Given the description of an element on the screen output the (x, y) to click on. 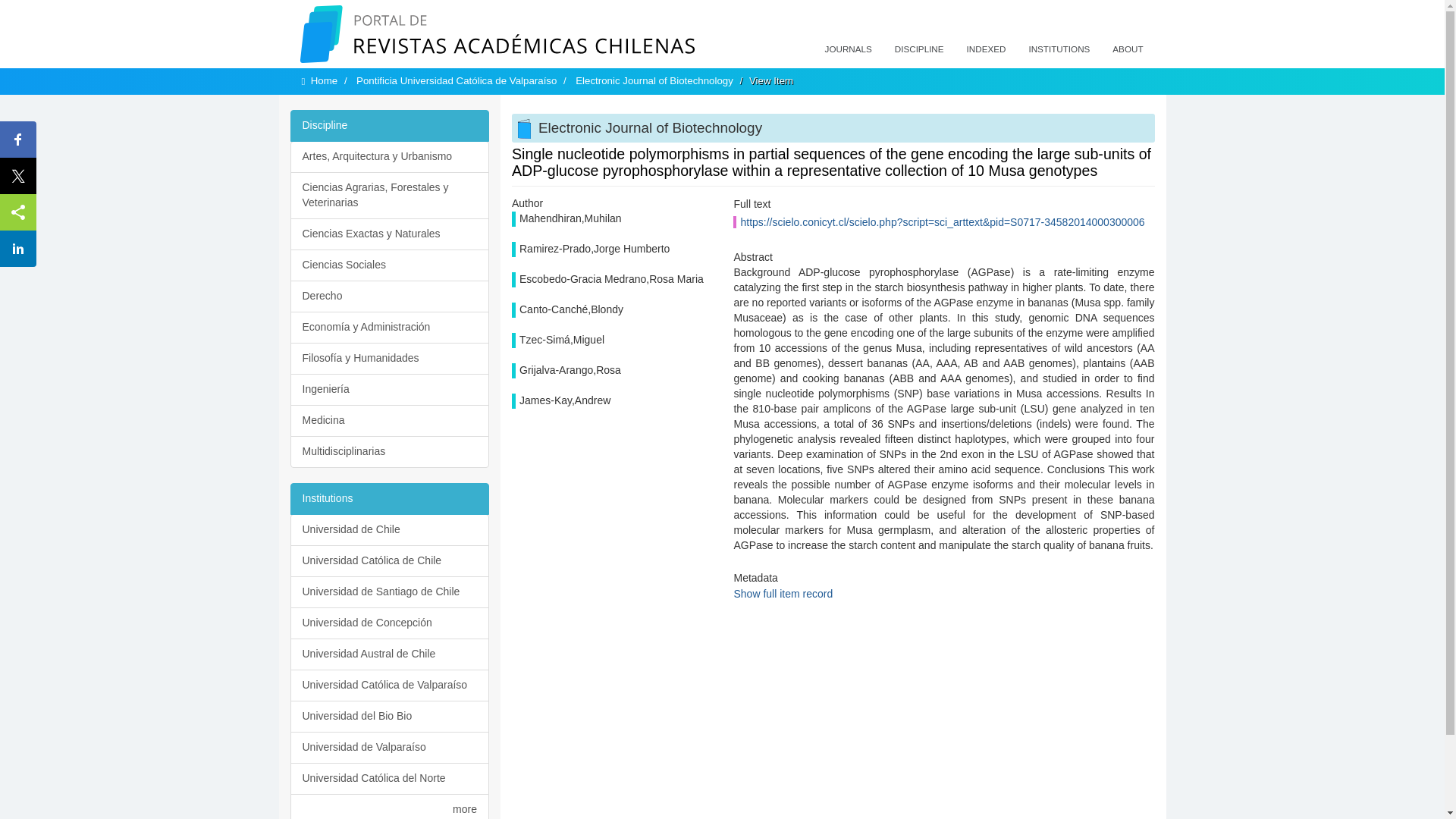
JOURNALS (848, 48)
ABOUT (1127, 48)
INSTITUTIONS (1058, 48)
Electronic Journal of Biotechnology (654, 80)
Universidad de Chile (389, 530)
Multidisciplinarias (389, 451)
Artes, Arquitectura y Urbanismo (389, 156)
Discipline (389, 125)
Universidad Austral de Chile (389, 654)
Ciencias Agrarias, Forestales y Veterinarias (389, 195)
DISCIPLINE (919, 48)
Derecho (389, 296)
INDEXED (986, 48)
Medicina (389, 420)
Institutions (389, 499)
